Given the description of an element on the screen output the (x, y) to click on. 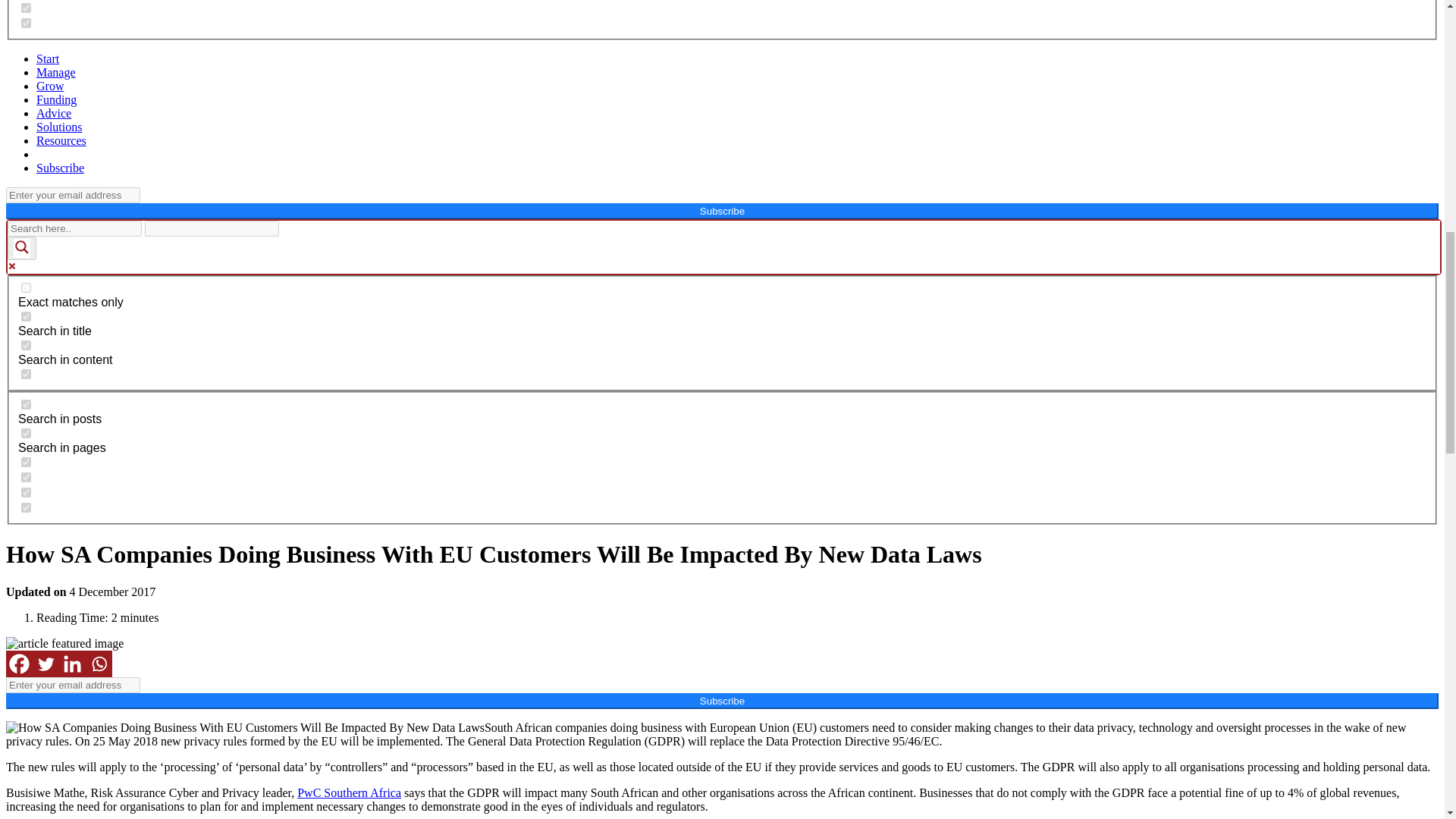
Linkedin (72, 663)
exact (25, 287)
excerpt (25, 374)
Advice (53, 113)
brands (25, 22)
Twitter (45, 663)
post (25, 404)
Facebook (18, 663)
Funding (56, 99)
Start search (288, 222)
content (25, 345)
Subscribe (60, 167)
Whatsapp (98, 663)
Start (47, 58)
Solutions (58, 126)
